Given the description of an element on the screen output the (x, y) to click on. 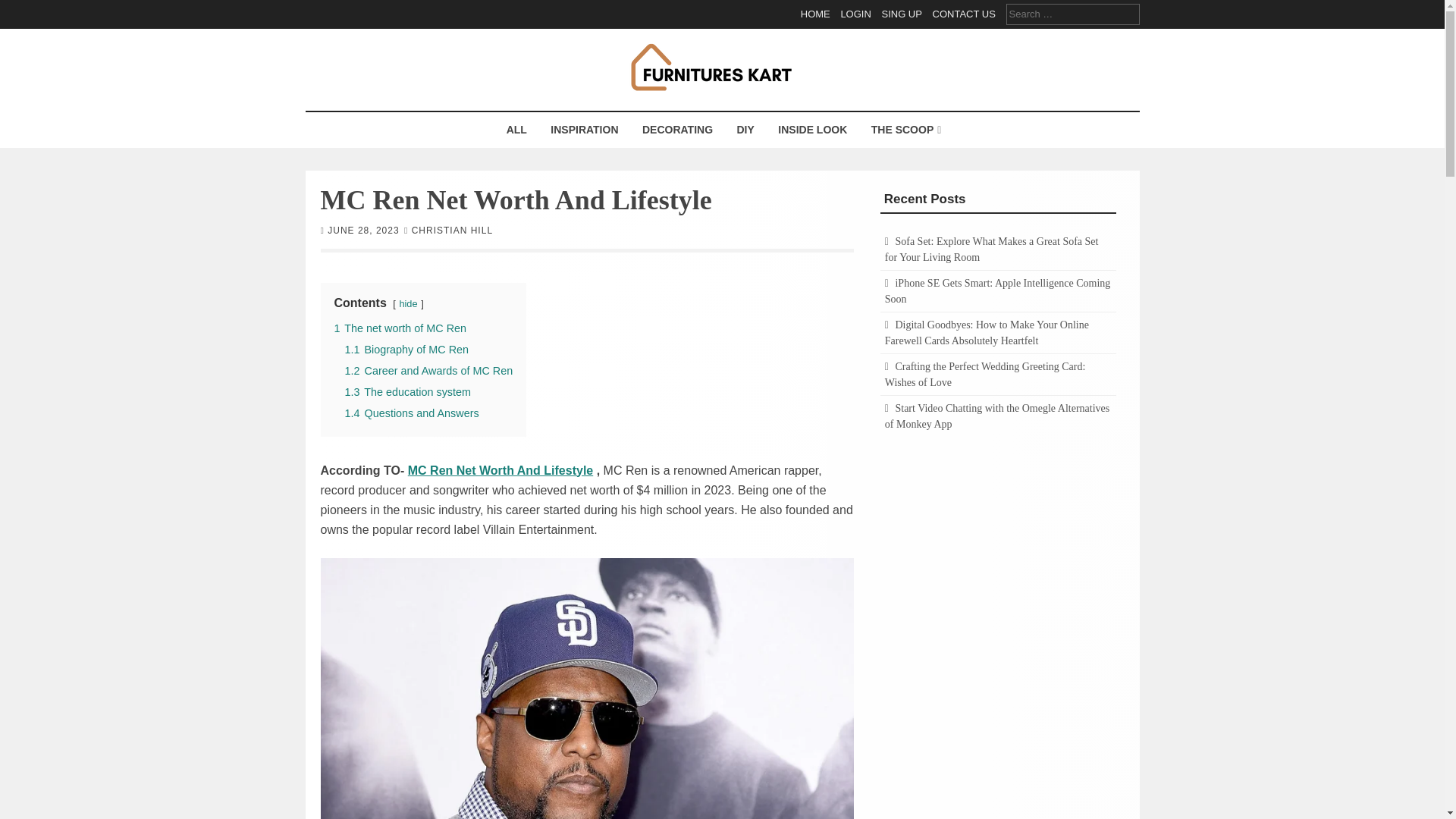
INSIDE LOOK (812, 130)
LOGIN (855, 13)
1.2 Career and Awards of MC Ren (427, 369)
MC Ren Net Worth And Lifestyle (499, 470)
DECORATING (676, 130)
1.3 The education system (406, 390)
THE SCOOP (904, 130)
JUNE 28, 2023 (362, 229)
